Given the description of an element on the screen output the (x, y) to click on. 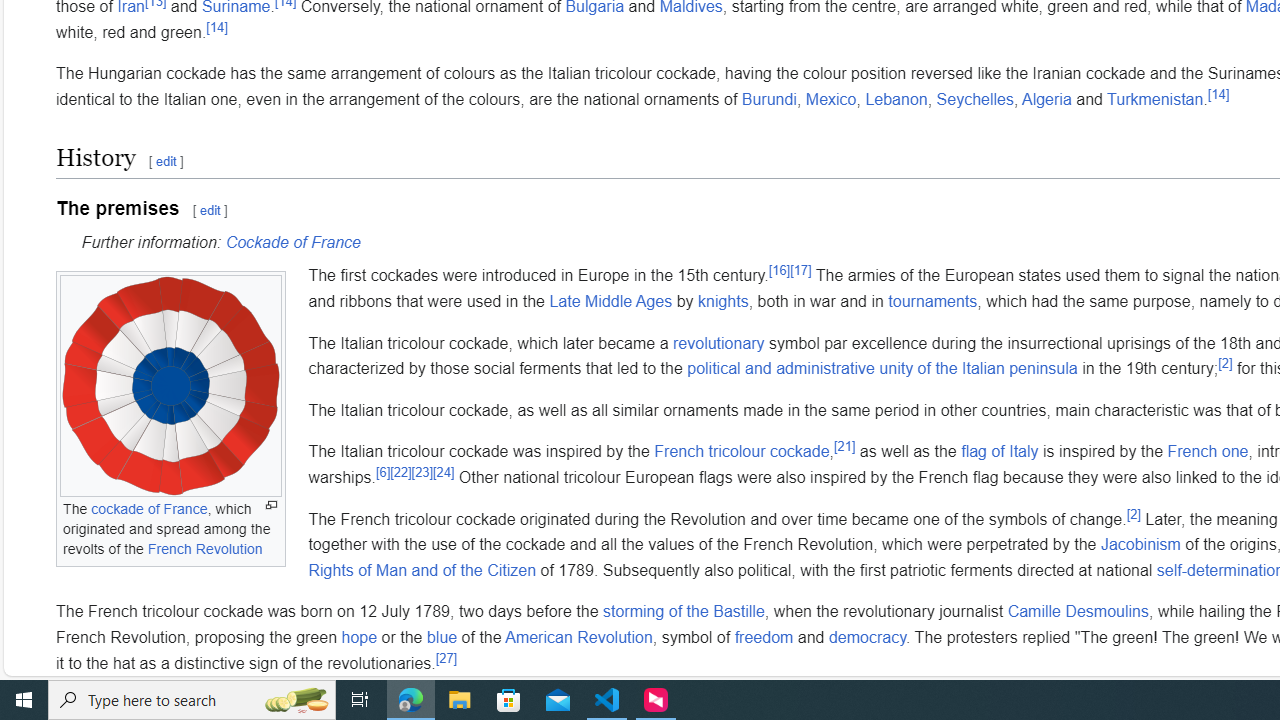
Seychelles (974, 99)
tournaments (932, 301)
Jacobinism (1140, 544)
[14] (1218, 93)
Burundi (769, 99)
Cockade of France (292, 242)
flag of Italy (1000, 451)
French tricolour cockade (741, 451)
Lebanon (896, 99)
[6] (382, 471)
Class: mw-file-description (171, 386)
storming of the Bastille (683, 611)
[23] (421, 471)
freedom (763, 636)
[27] (446, 658)
